Given the description of an element on the screen output the (x, y) to click on. 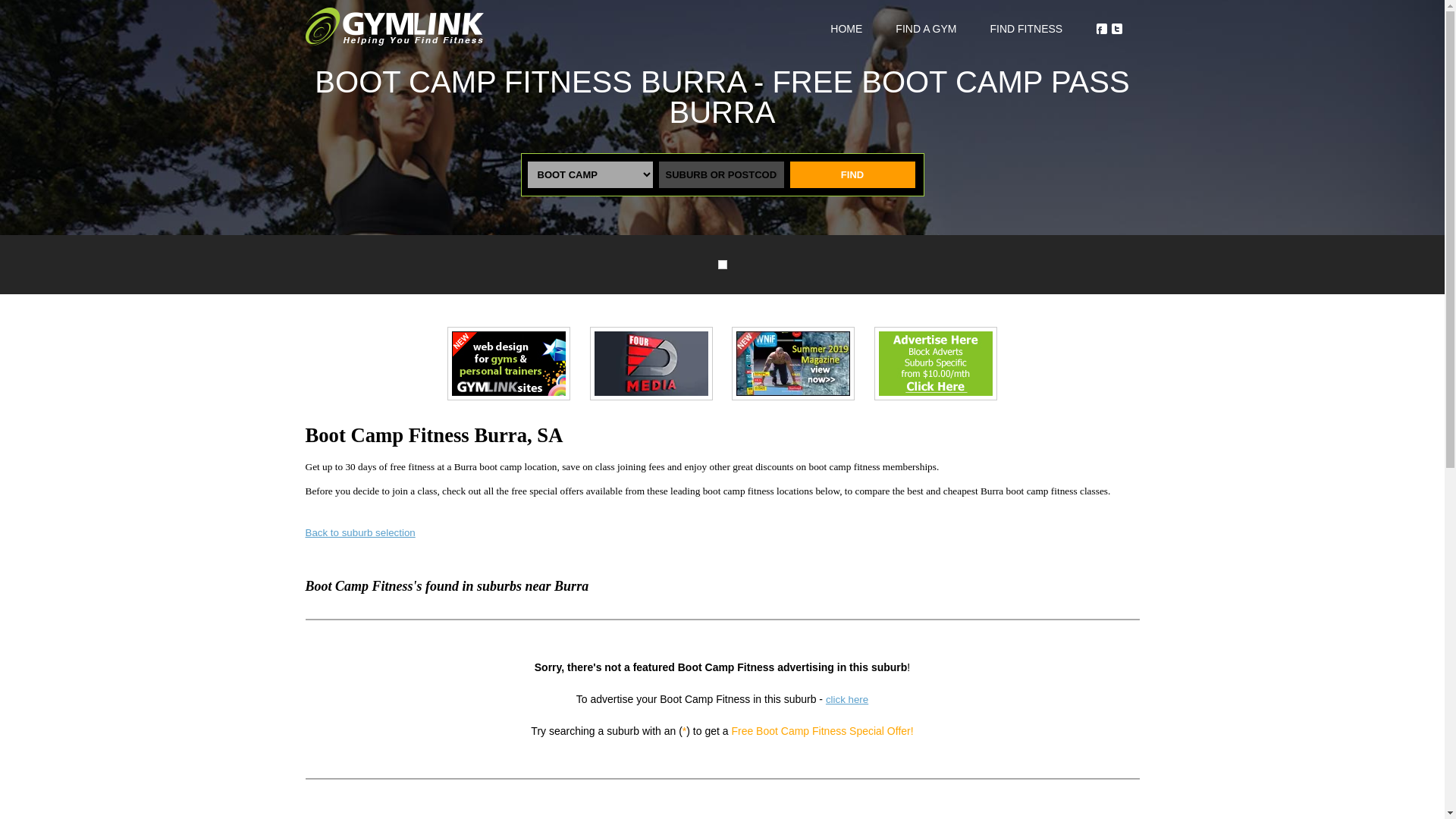
FIND A GYM (925, 28)
FIND FITNESS (1026, 28)
HOME (845, 28)
Find (852, 174)
click here (846, 699)
WNiF Summer 2019 Edition - View the digital edition (793, 363)
Back to suburb selection (359, 532)
Find (852, 174)
